Given the description of an element on the screen output the (x, y) to click on. 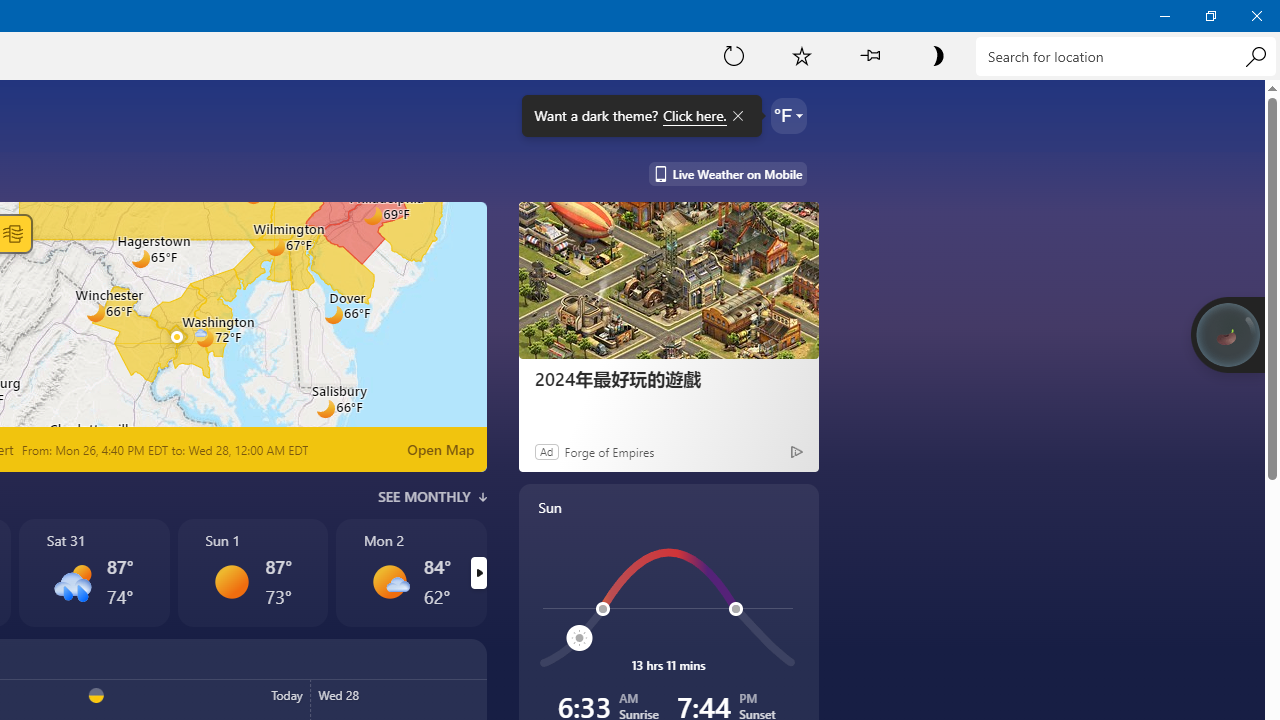
Pin (869, 55)
Search for location (1125, 56)
Add to Favorites (801, 55)
Refresh (734, 55)
Restore Weather (1210, 15)
Close Weather (1256, 15)
Search (1255, 56)
Turn on dark theme (937, 55)
Minimize Weather (1164, 15)
